Given the description of an element on the screen output the (x, y) to click on. 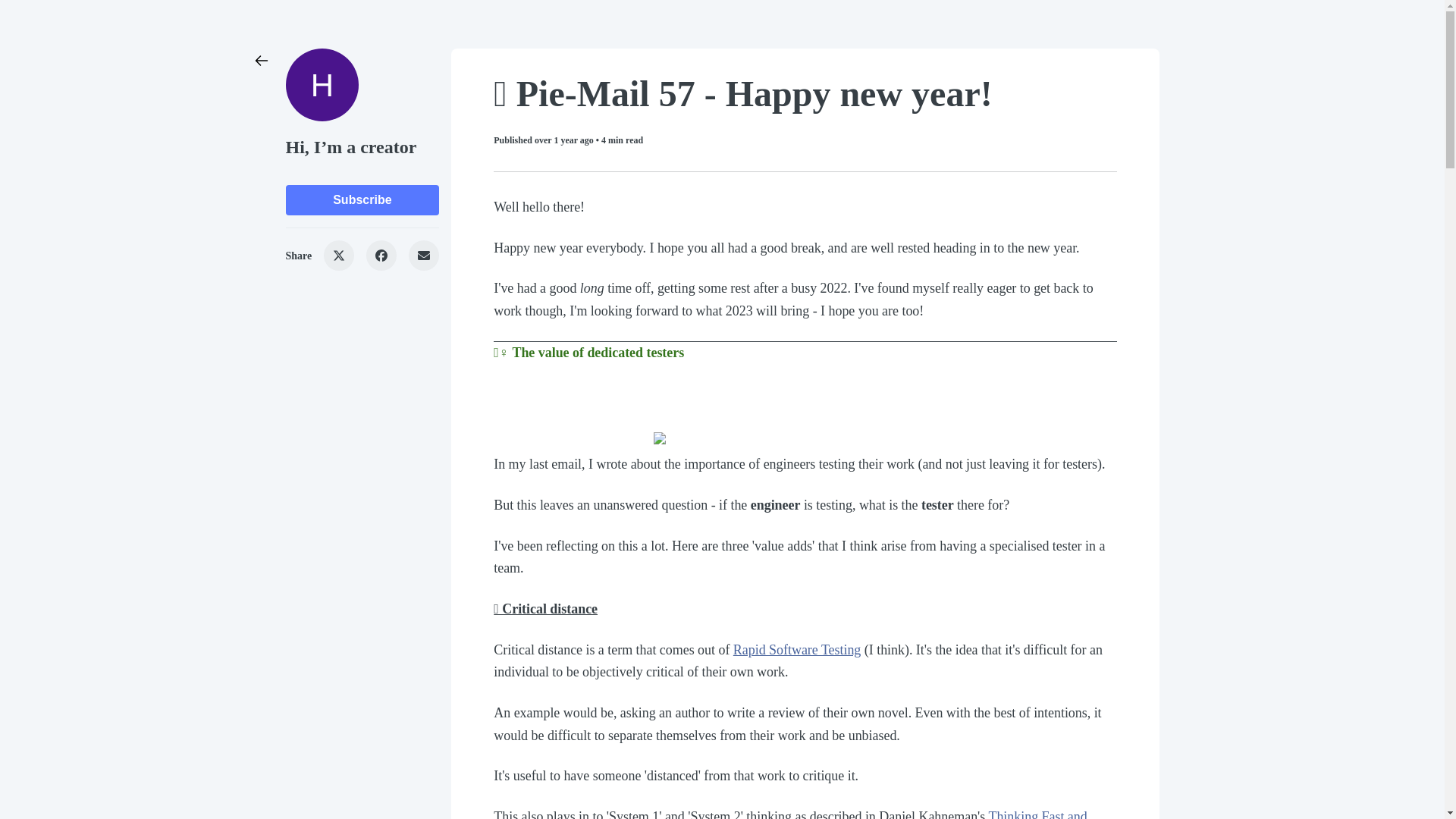
Arrow Left (260, 60)
Rapid Software Testing (797, 649)
Arrow Left (260, 60)
Thinking Fast and Slow (789, 814)
Subscribe (362, 200)
